Given the description of an element on the screen output the (x, y) to click on. 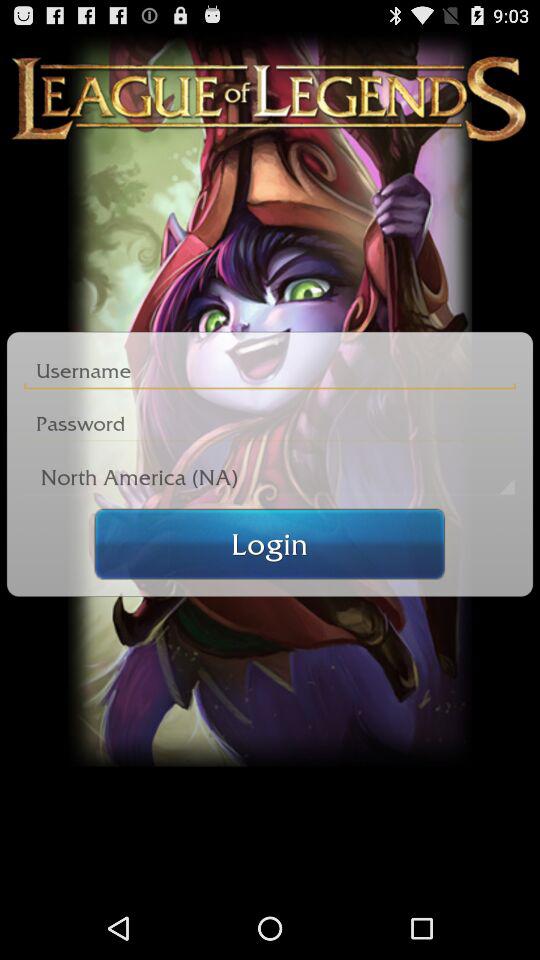
enter password (269, 423)
